Given the description of an element on the screen output the (x, y) to click on. 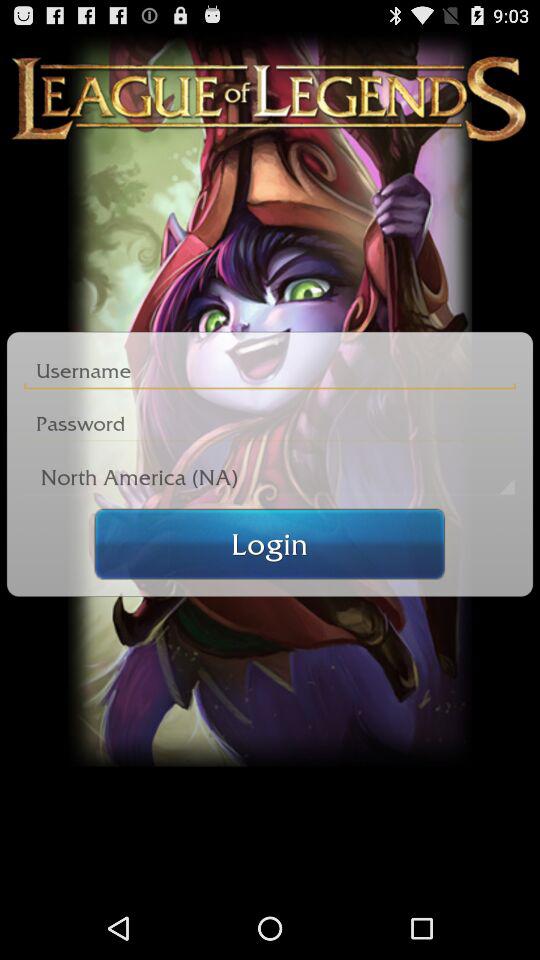
enter password (269, 423)
